Given the description of an element on the screen output the (x, y) to click on. 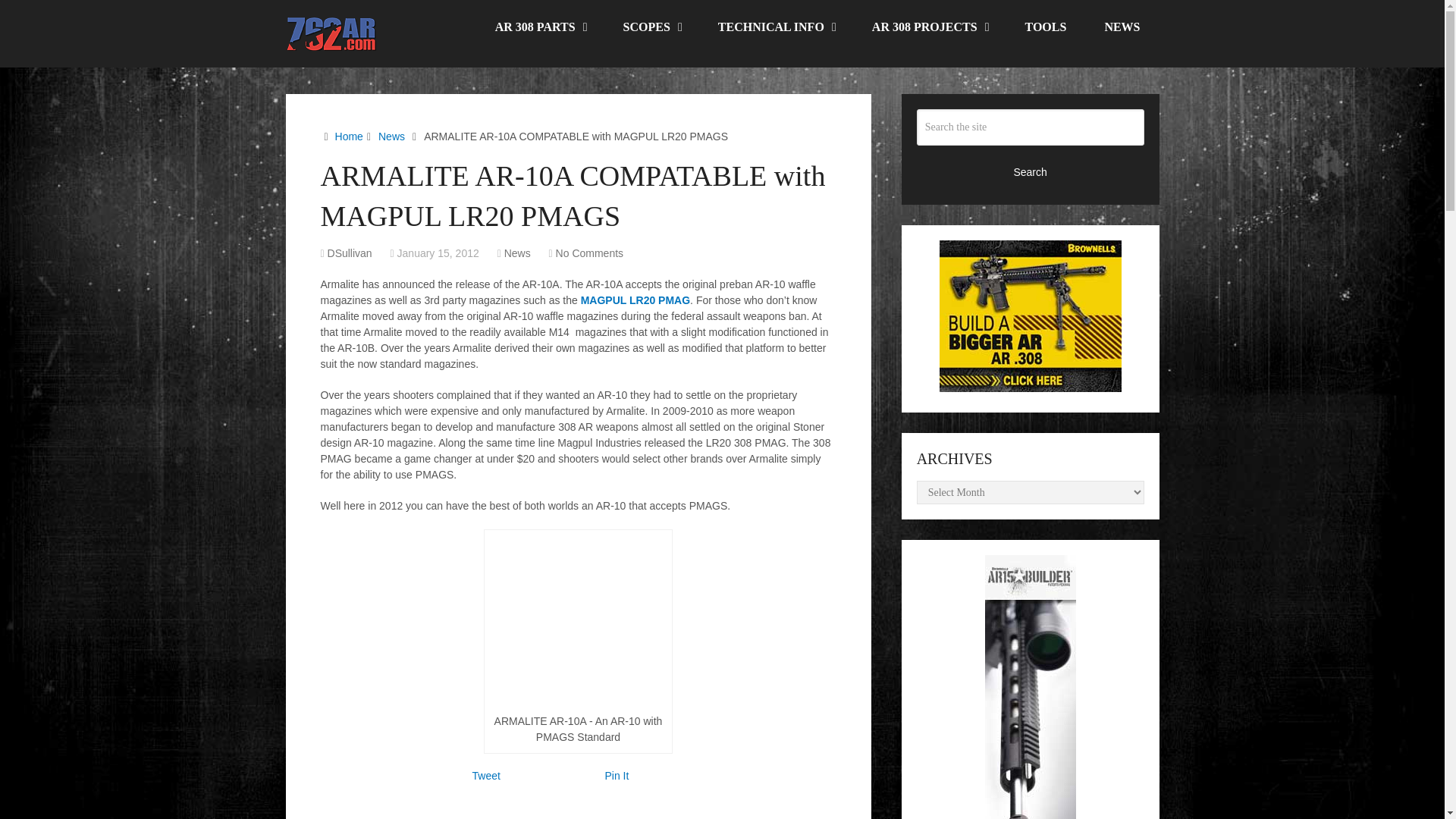
AR 308 Scopes (651, 27)
AR 308 PARTS (540, 27)
AR 308 PROJECTS (929, 27)
TOOLS (1046, 27)
SCOPES (651, 27)
AR 308 Parts (540, 27)
NEWS (1121, 27)
TECHNICAL INFO (775, 27)
